Given the description of an element on the screen output the (x, y) to click on. 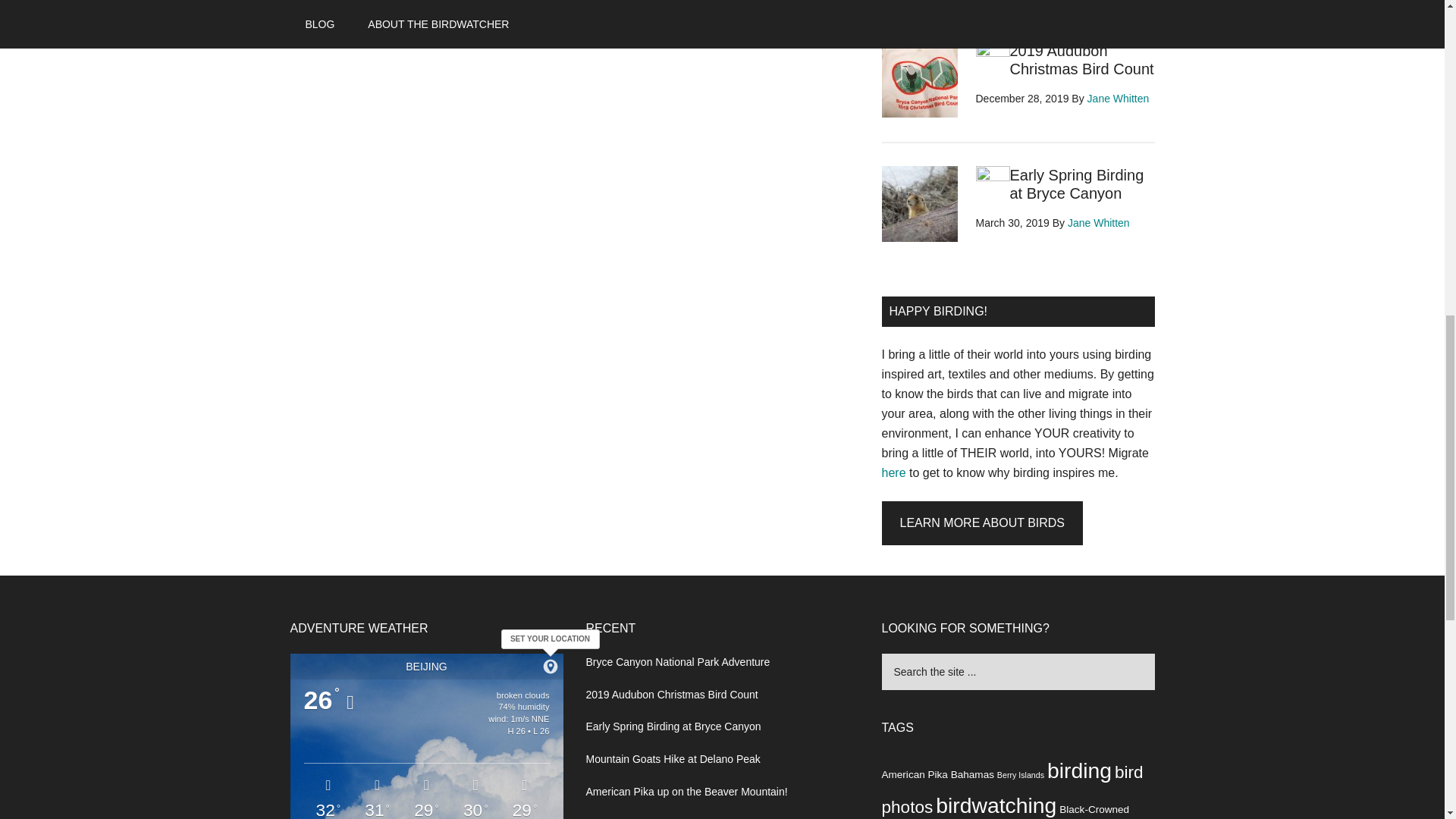
Bryce Canyon National Park Adventure (677, 662)
Mountain Goats Hike at Delano Peak (672, 758)
here (892, 472)
Early Spring Birding at Bryce Canyon (672, 726)
Jane Whitten (1118, 98)
2019 Audubon Christmas Bird Count (671, 694)
Jane Whitten (1098, 223)
Set Your Location (550, 666)
Early Spring Birding at Bryce Canyon (1077, 184)
